Given the description of an element on the screen output the (x, y) to click on. 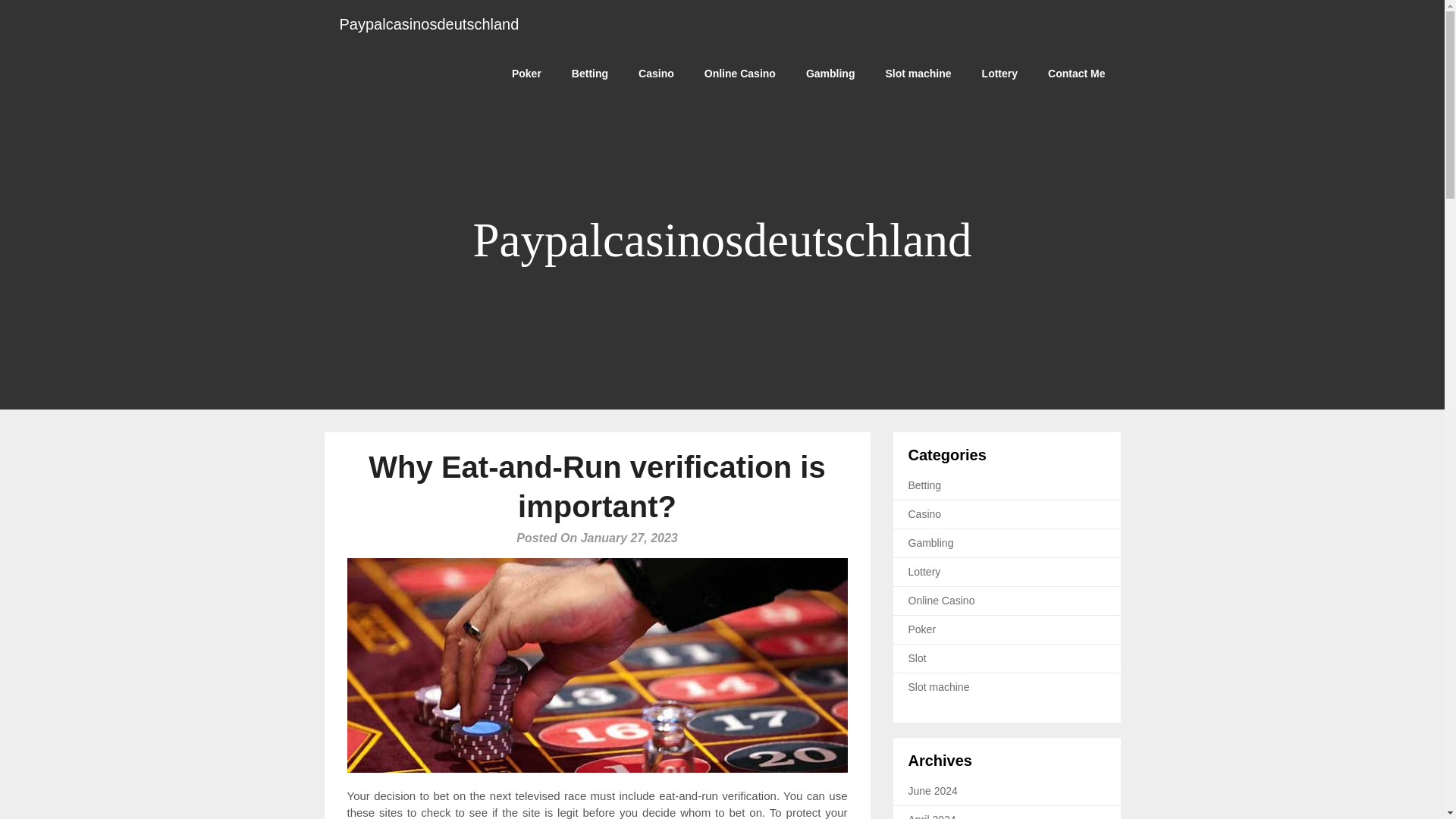
Betting (925, 485)
Betting (589, 73)
Gambling (830, 73)
Slot machine (938, 686)
April 2024 (932, 816)
Gambling (930, 542)
Paypalcasinosdeutschland (429, 24)
June 2024 (933, 789)
Casino (925, 513)
Poker (922, 629)
Slot (917, 657)
Casino (655, 73)
Slot machine (917, 73)
Poker (526, 73)
Lottery (999, 73)
